Given the description of an element on the screen output the (x, y) to click on. 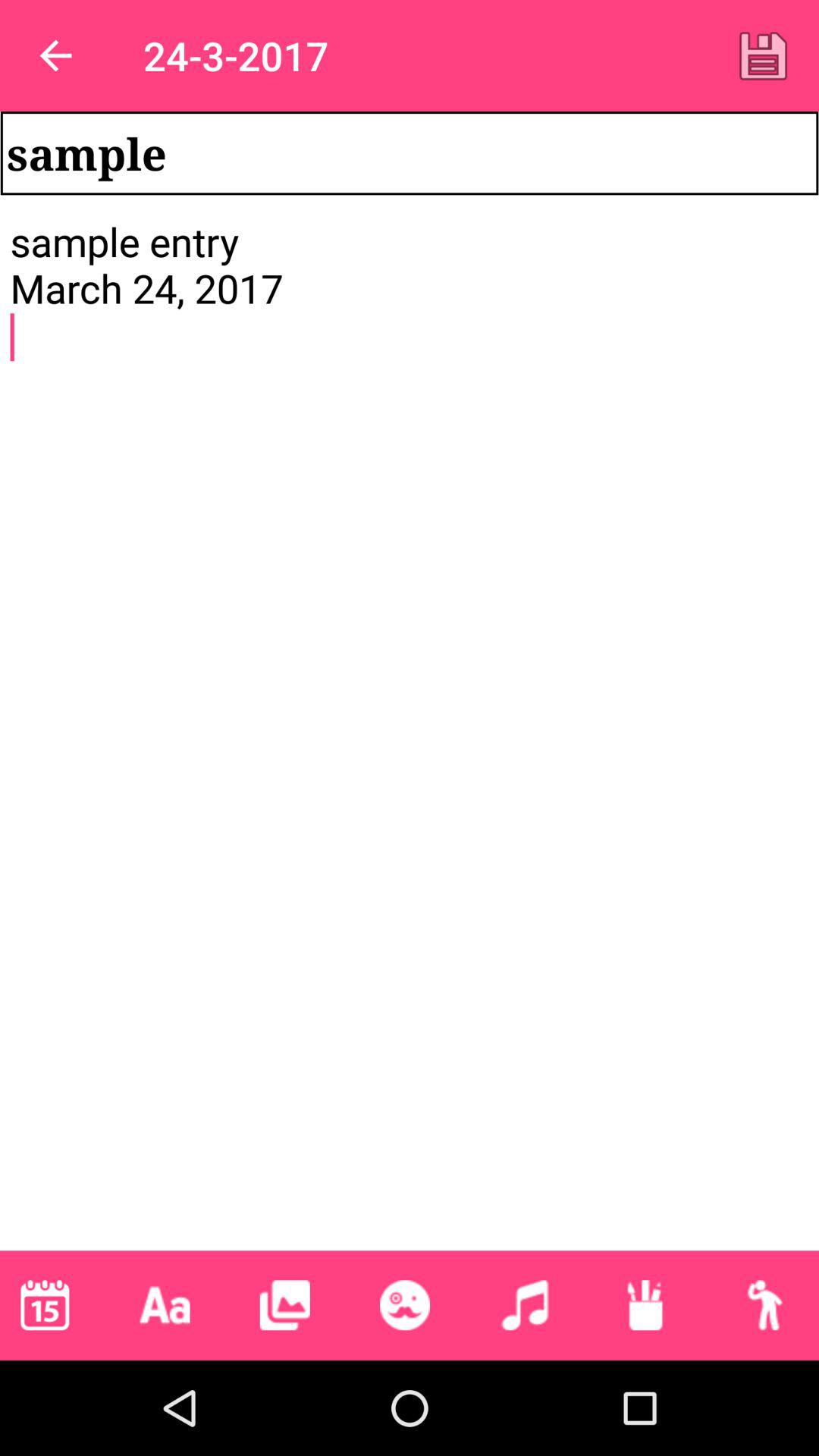
profile selection (764, 1305)
